Given the description of an element on the screen output the (x, y) to click on. 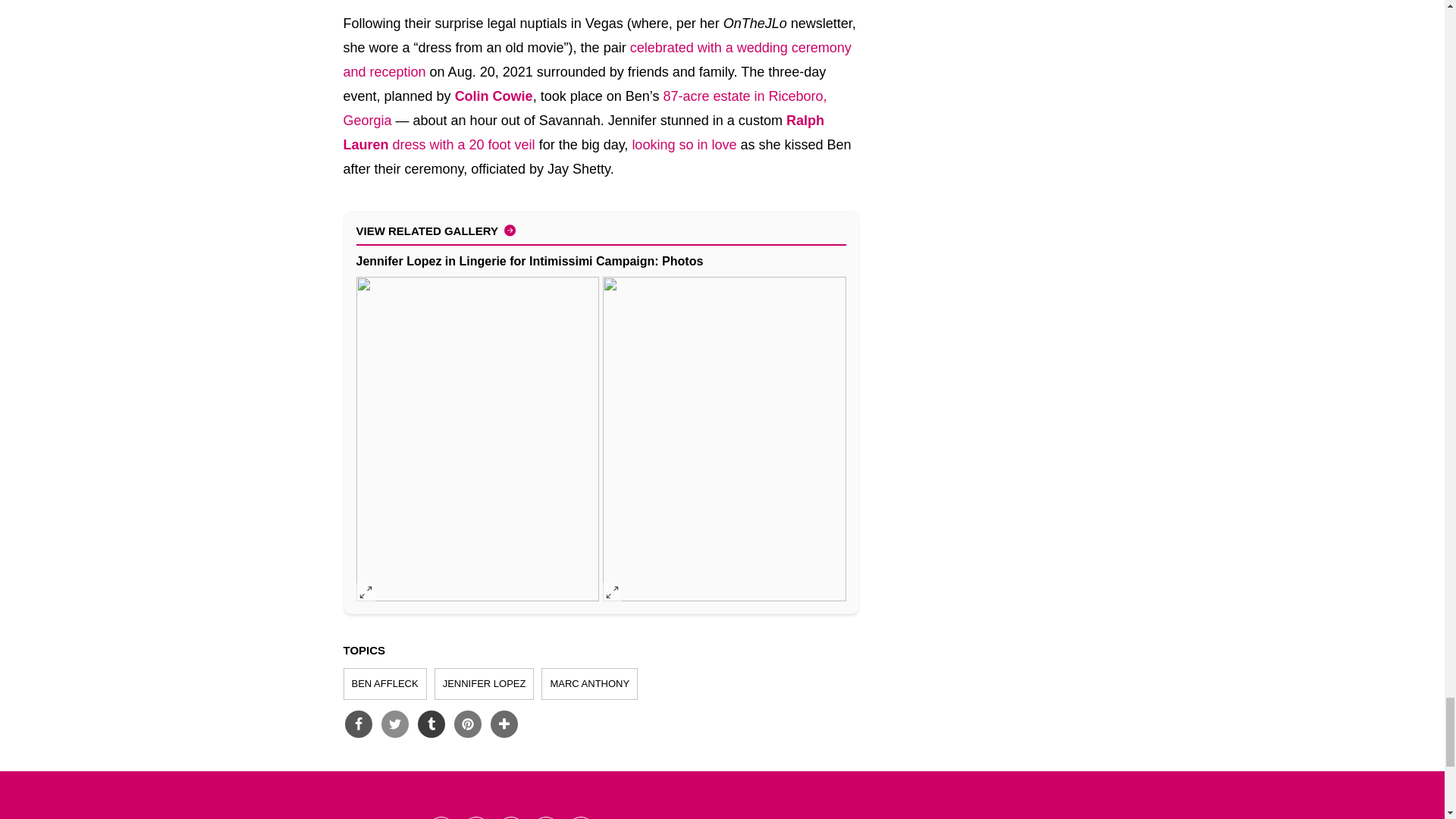
Pin it (466, 723)
Tweet (393, 723)
More Share Options (502, 723)
Post to Tumblr (430, 723)
Share on Facebook (357, 723)
